Given the description of an element on the screen output the (x, y) to click on. 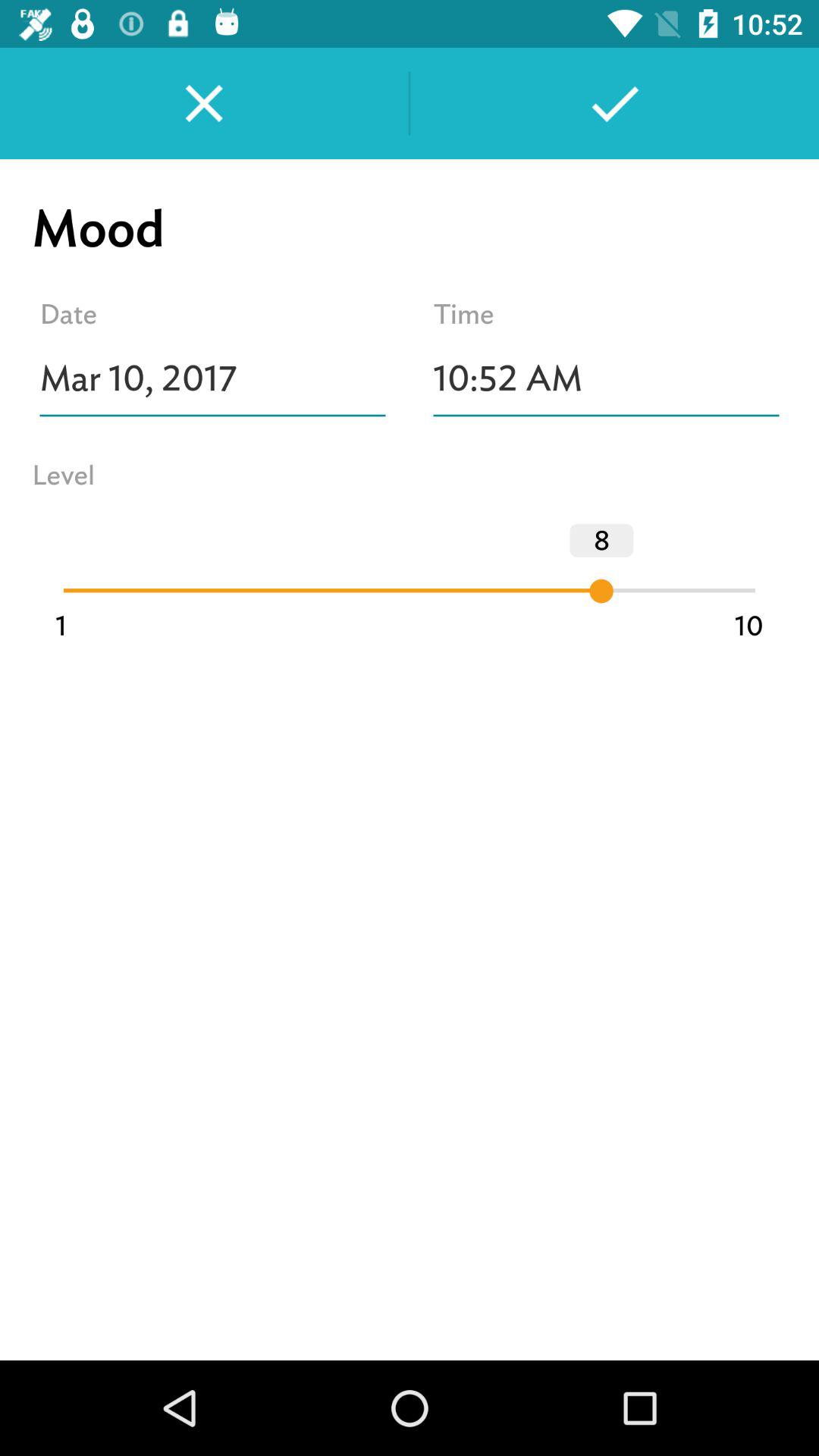
click the icon above level item (212, 378)
